Given the description of an element on the screen output the (x, y) to click on. 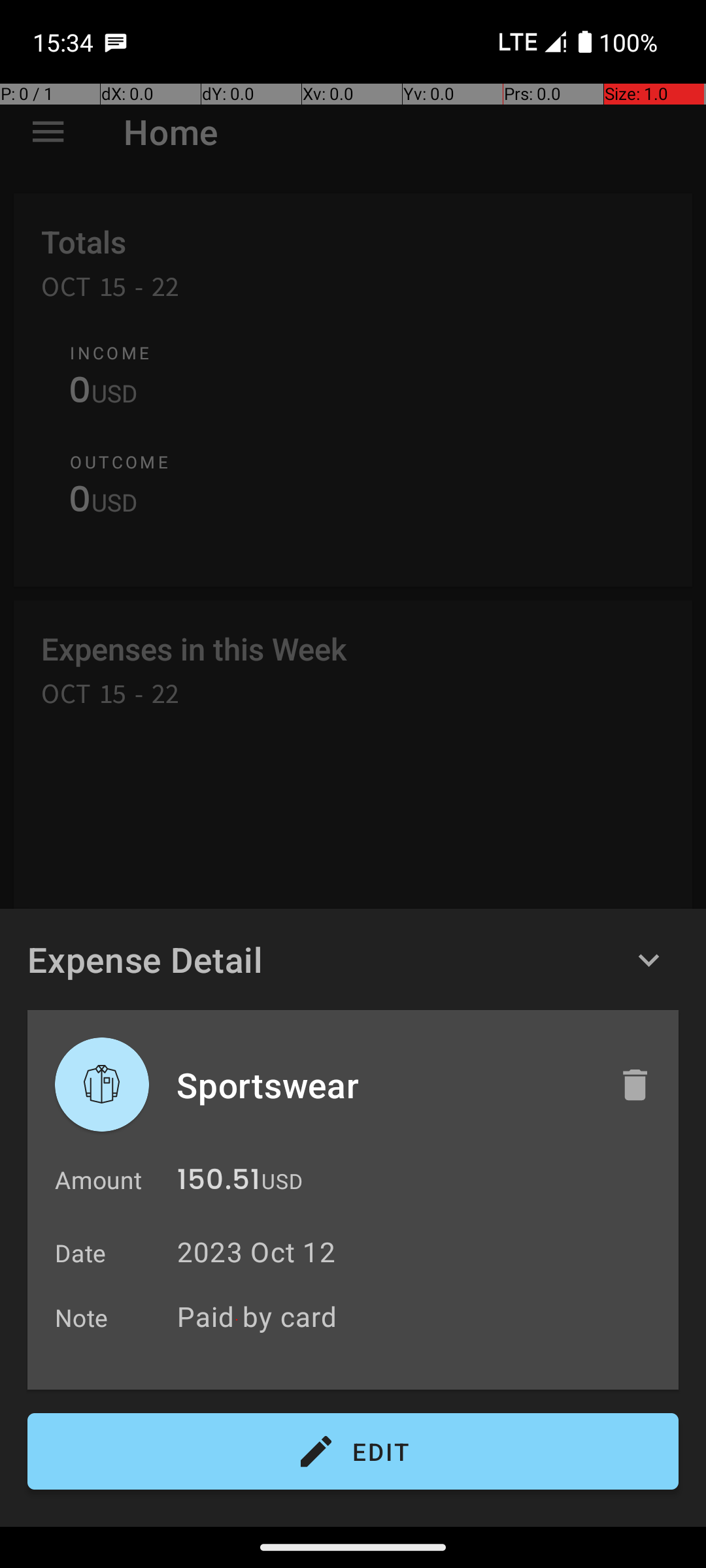
Sportswear Element type: android.widget.TextView (383, 1084)
150.51 Element type: android.widget.TextView (218, 1182)
